Given the description of an element on the screen output the (x, y) to click on. 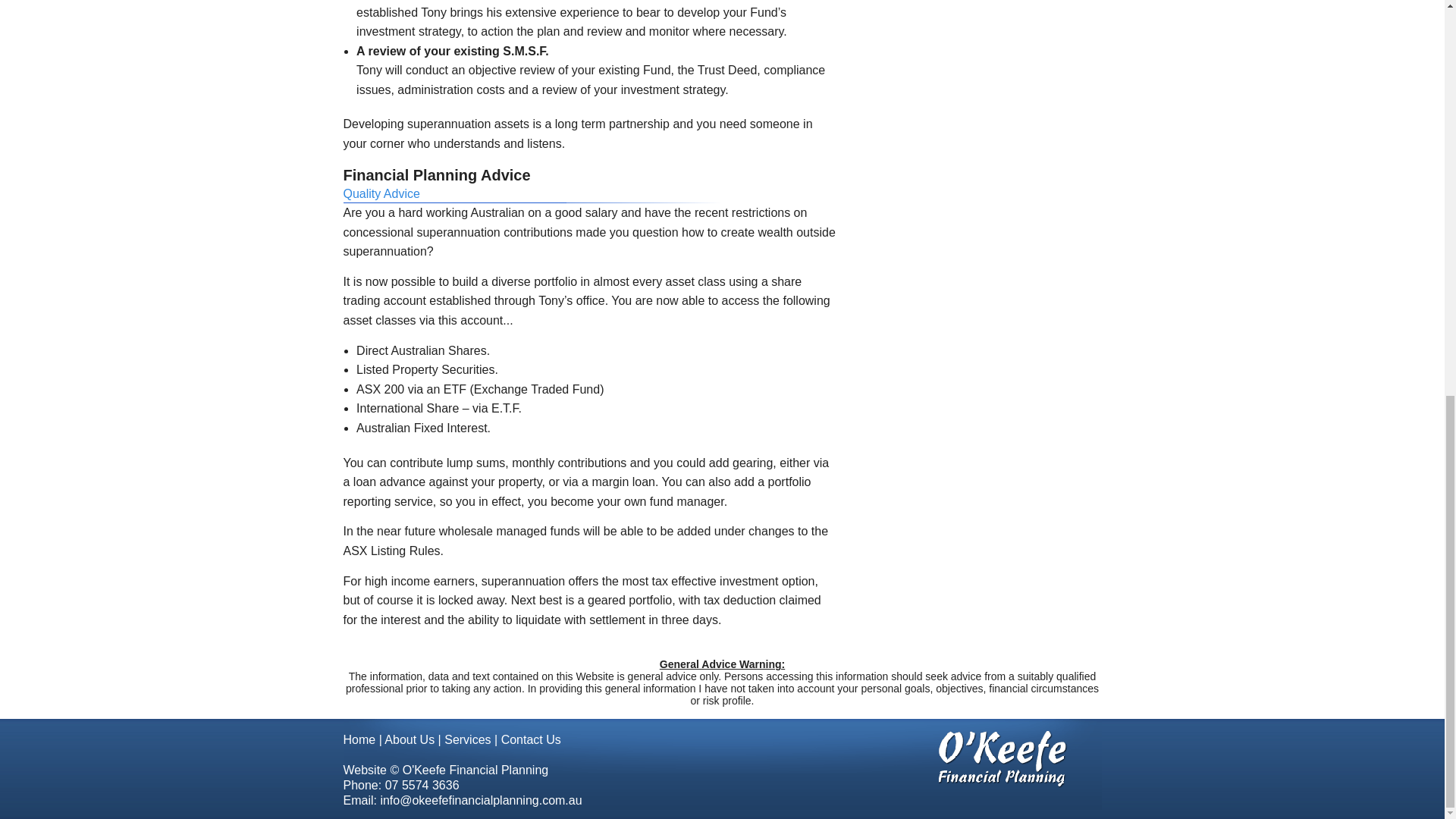
  Element type: text (1083, 247)
MORE INFO Element type: text (722, 416)
  Element type: text (1050, 247)
Contact Us Element type: text (1057, 33)
O'Keefe Financial Planning Element type: hover (500, 33)
Services Element type: text (968, 33)
Superannuation Element type: text (968, 71)
SEND Element type: text (1055, 734)
Home Element type: text (816, 33)
Financial Planning Element type: text (968, 109)
  Element type: text (1033, 247)
About Us Element type: text (884, 33)
READ MORE Element type: text (1036, 218)
CONTACT US Element type: text (974, 431)
  Element type: text (1067, 247)
MORE INFO Element type: text (469, 416)
